Given the description of an element on the screen output the (x, y) to click on. 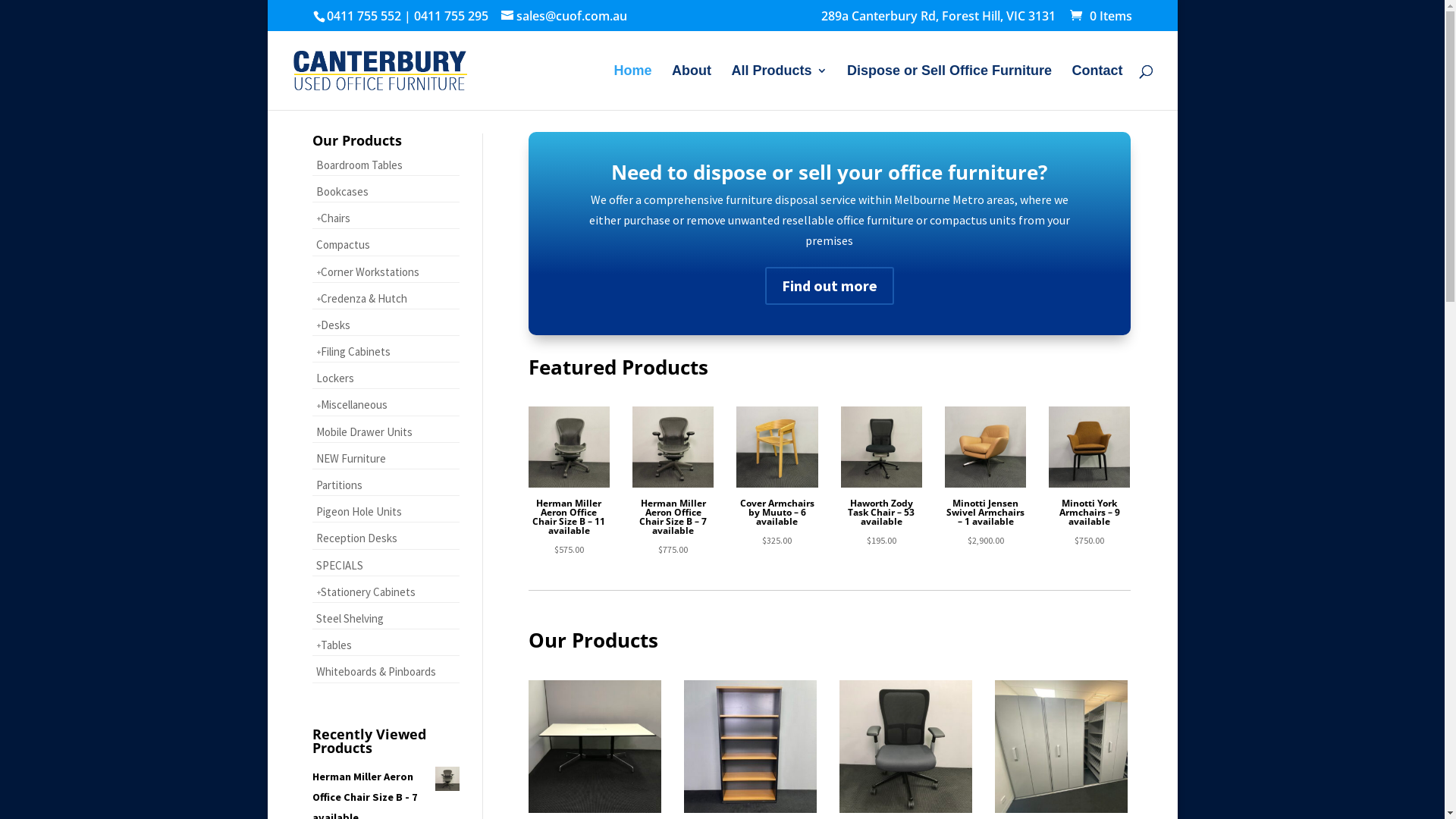
Stationery Cabinets Element type: text (385, 591)
All Products Element type: text (779, 87)
Home Element type: text (633, 87)
Steel Shelving Element type: text (385, 618)
Chairs Element type: text (385, 217)
Credenza & Hutch Element type: text (385, 298)
Reception Desks Element type: text (385, 537)
Find out more Element type: text (829, 285)
Bookcases Element type: text (385, 191)
Filing Cabinets Element type: text (385, 351)
Corner Workstations Element type: text (385, 271)
Lockers Element type: text (385, 377)
Partitions Element type: text (385, 484)
Dispose or Sell Office Furniture Element type: text (949, 87)
0 Items Element type: text (1098, 15)
Miscellaneous Element type: text (385, 404)
Compactus Element type: text (385, 244)
Boardroom Tables Element type: text (385, 164)
Contact Element type: text (1097, 87)
SPECIALS Element type: text (385, 565)
NEW Furniture Element type: text (385, 458)
Pigeon Hole Units Element type: text (385, 511)
289a Canterbury Rd, Forest Hill, VIC 3131 Element type: text (937, 20)
Mobile Drawer Units Element type: text (385, 431)
Tables Element type: text (385, 644)
Whiteboards & Pinboards Element type: text (385, 671)
sales@cuof.com.au Element type: text (563, 15)
About Element type: text (691, 87)
Desks Element type: text (385, 324)
